Given the description of an element on the screen output the (x, y) to click on. 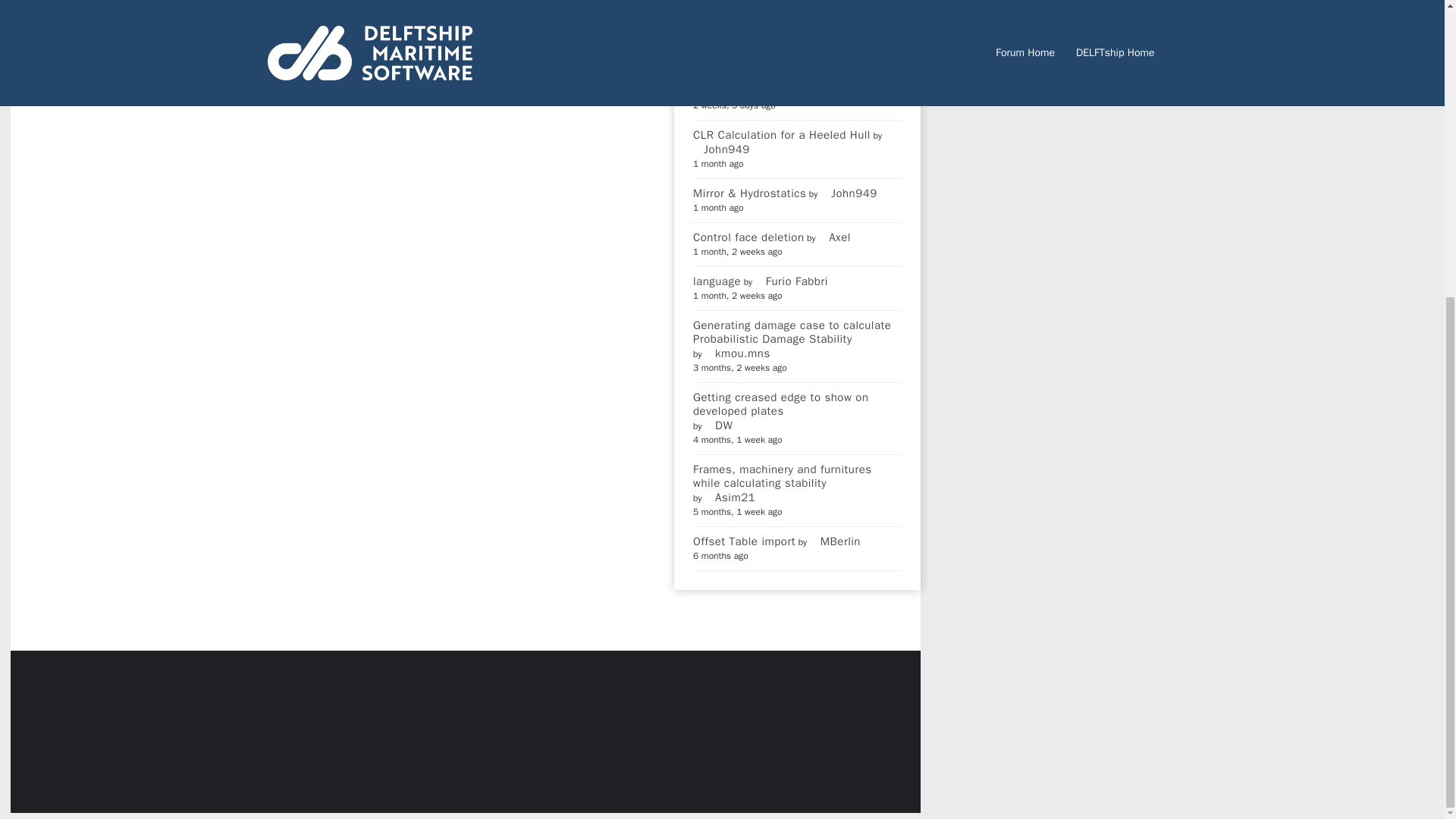
Asim21 (729, 497)
Frames, machinery and furnitures while calculating stability (797, 475)
View kmou.mns's profile (737, 353)
Axel (834, 237)
Control face deletion (748, 237)
kmou.mns (737, 353)
View John949's profile (721, 149)
viewing individual stations (762, 18)
View Axel's profile (834, 237)
Getting creased edge to show on developed plates (797, 403)
Evergreenboats (739, 90)
View Asim21's profile (729, 497)
View DW's profile (718, 425)
DW (718, 425)
